Given the description of an element on the screen output the (x, y) to click on. 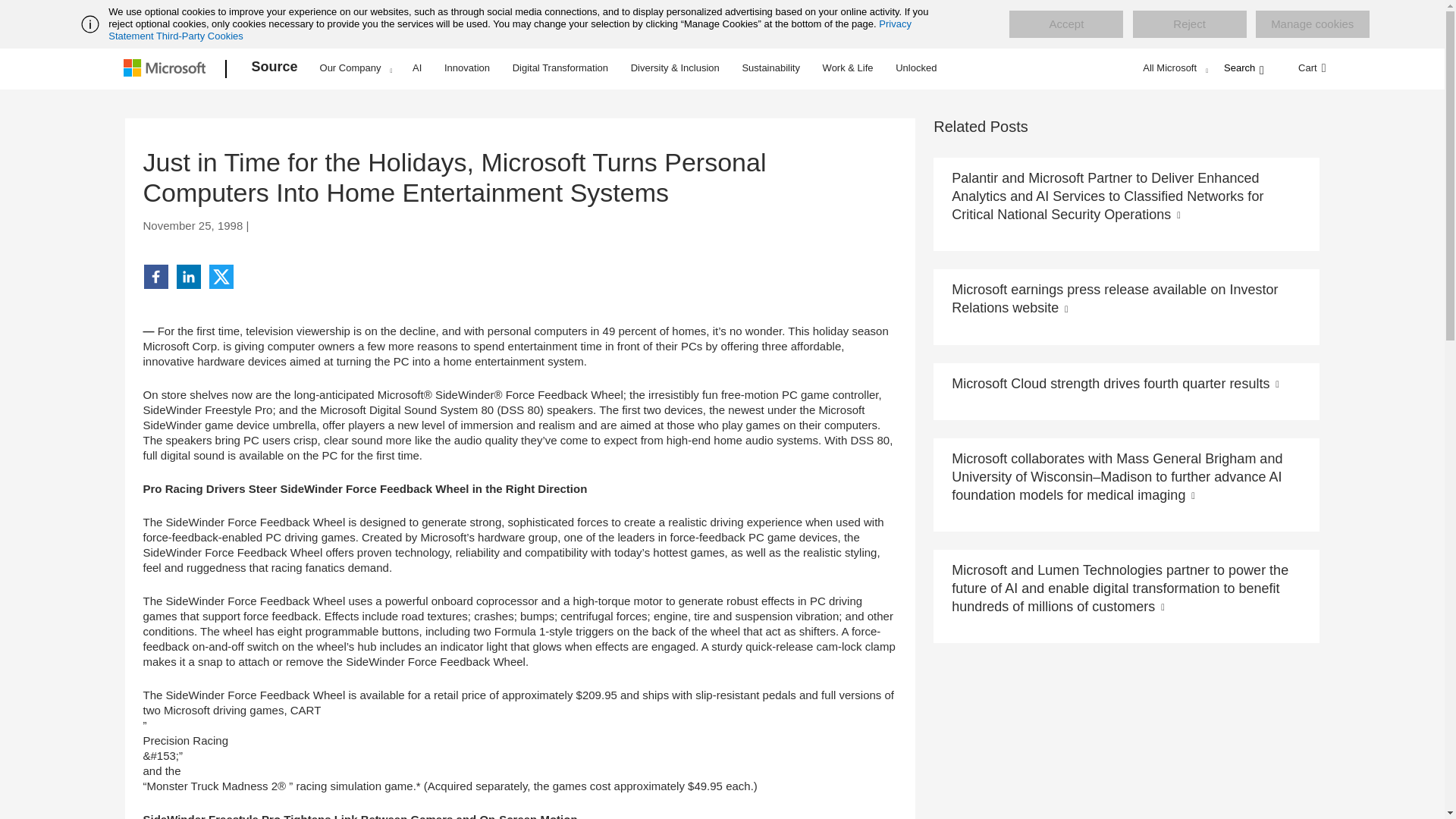
Innovation (467, 67)
Unlocked (915, 67)
Digital Transformation (559, 67)
Reject (1189, 23)
Manage cookies (1312, 23)
Microsoft (167, 69)
Accept (1065, 23)
All Microsoft (1173, 67)
Third-Party Cookies (199, 35)
